Given the description of an element on the screen output the (x, y) to click on. 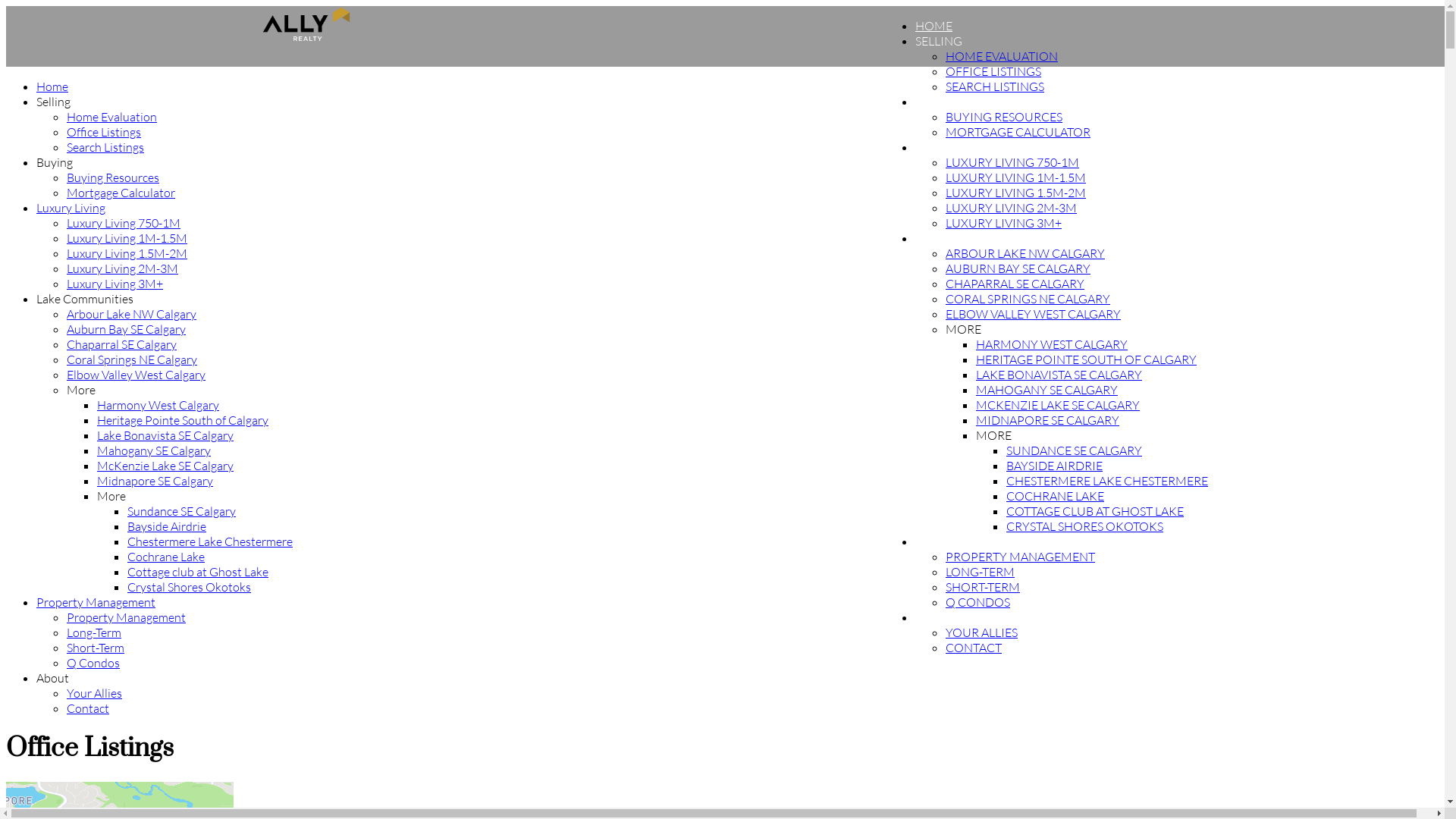
LUXURY LIVING 1M-1.5M Element type: text (1015, 177)
LAKE BONAVISTA SE CALGARY Element type: text (1058, 374)
HARMONY WEST CALGARY Element type: text (1051, 343)
LUXURY LIVING 1.5M-2M Element type: text (1015, 192)
HOME EVALUATION Element type: text (1001, 55)
BUYING RESOURCES Element type: text (1003, 116)
Luxury Living 750-1M Element type: text (123, 222)
Property Management Element type: text (125, 616)
Chaparral SE Calgary Element type: text (121, 343)
Property Management Element type: text (95, 601)
BAYSIDE AIRDRIE Element type: text (1054, 465)
Lake Bonavista SE Calgary Element type: text (165, 434)
Luxury Living 1.5M-2M Element type: text (126, 252)
COCHRANE LAKE Element type: text (1055, 495)
Midnapore SE Calgary Element type: text (155, 480)
YOUR ALLIES Element type: text (981, 632)
ELBOW VALLEY WEST CALGARY Element type: text (1032, 313)
Short-Term Element type: text (95, 647)
LUXURY LIVING 3M+ Element type: text (1003, 222)
Buying Resources Element type: text (112, 177)
Chestermere Lake Chestermere Element type: text (209, 541)
LUXURY LIVING 2M-3M Element type: text (1010, 207)
MCKENZIE LAKE SE CALGARY Element type: text (1057, 404)
CHAPARRAL SE CALGARY Element type: text (1014, 283)
CONTACT Element type: text (973, 647)
OFFICE LISTINGS Element type: text (993, 70)
COTTAGE CLUB AT GHOST LAKE Element type: text (1094, 510)
MAHOGANY SE CALGARY Element type: text (1046, 389)
Mahogany SE Calgary Element type: text (153, 450)
SEARCH LISTINGS Element type: text (994, 86)
LUXURY LIVING 750-1M Element type: text (1012, 161)
Home Element type: text (52, 86)
AUBURN BAY SE CALGARY Element type: text (1017, 268)
Bayside Airdrie Element type: text (166, 525)
Q CONDOS Element type: text (977, 601)
CRYSTAL SHORES OKOTOKS Element type: text (1084, 525)
Search Listings Element type: text (105, 146)
Cottage club at Ghost Lake Element type: text (197, 571)
ARBOUR LAKE NW CALGARY Element type: text (1024, 252)
Contact Element type: text (87, 707)
Long-Term Element type: text (93, 632)
Coral Springs NE Calgary Element type: text (131, 359)
Auburn Bay SE Calgary Element type: text (125, 328)
PROPERTY MANAGEMENT Element type: text (1020, 556)
Mortgage Calculator Element type: text (120, 192)
Luxury Living 3M+ Element type: text (114, 283)
Cochrane Lake Element type: text (165, 556)
HOME Element type: text (933, 25)
MORTGAGE CALCULATOR Element type: text (1017, 131)
Harmony West Calgary Element type: text (158, 404)
McKenzie Lake SE Calgary Element type: text (165, 465)
Office Listings Element type: text (103, 131)
SHORT-TERM Element type: text (982, 586)
Crystal Shores Okotoks Element type: text (189, 586)
Luxury Living 1M-1.5M Element type: text (126, 237)
Home Evaluation Element type: text (111, 116)
Q Condos Element type: text (92, 662)
Luxury Living 2M-3M Element type: text (122, 268)
MIDNAPORE SE CALGARY Element type: text (1047, 419)
HERITAGE POINTE SOUTH OF CALGARY Element type: text (1085, 359)
Arbour Lake NW Calgary Element type: text (131, 313)
Heritage Pointe South of Calgary Element type: text (182, 419)
LONG-TERM Element type: text (979, 571)
Your Allies Element type: text (94, 692)
CHESTERMERE LAKE CHESTERMERE Element type: text (1107, 480)
SUNDANCE SE CALGARY Element type: text (1074, 450)
LUXURY LIVING Element type: text (959, 146)
Sundance SE Calgary Element type: text (181, 510)
Elbow Valley West Calgary Element type: text (135, 374)
CORAL SPRINGS NE CALGARY Element type: text (1027, 298)
PROPERTY MANAGEMENT Element type: text (989, 541)
Luxury Living Element type: text (70, 207)
